Given the description of an element on the screen output the (x, y) to click on. 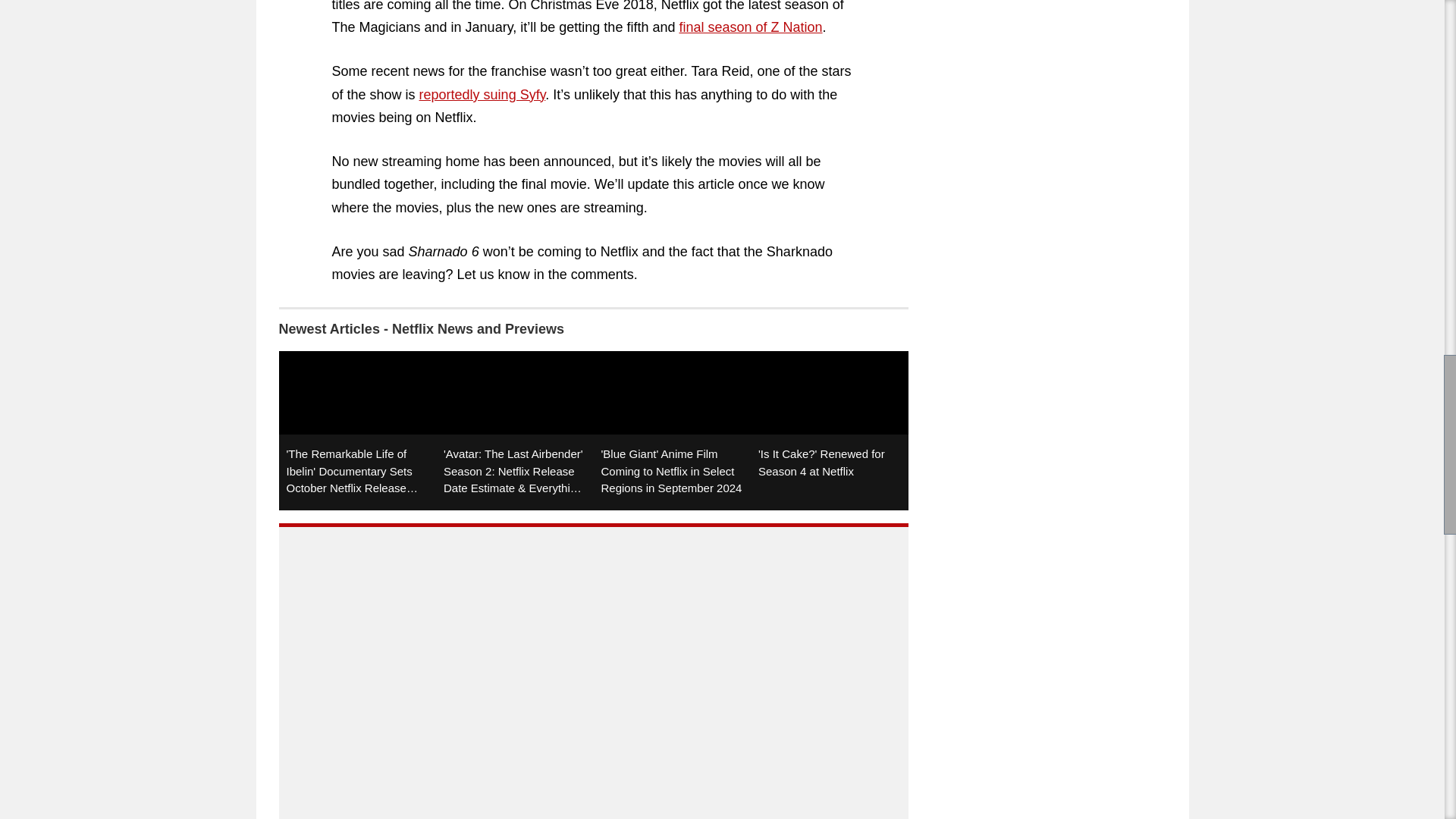
final season of Z Nation (750, 27)
'Is It Cake?' Renewed for Season 4 at Netflix (829, 430)
reportedly suing Syfy (482, 94)
'Is It Cake?' Renewed for Season 4 at Netflix (829, 430)
